Given the description of an element on the screen output the (x, y) to click on. 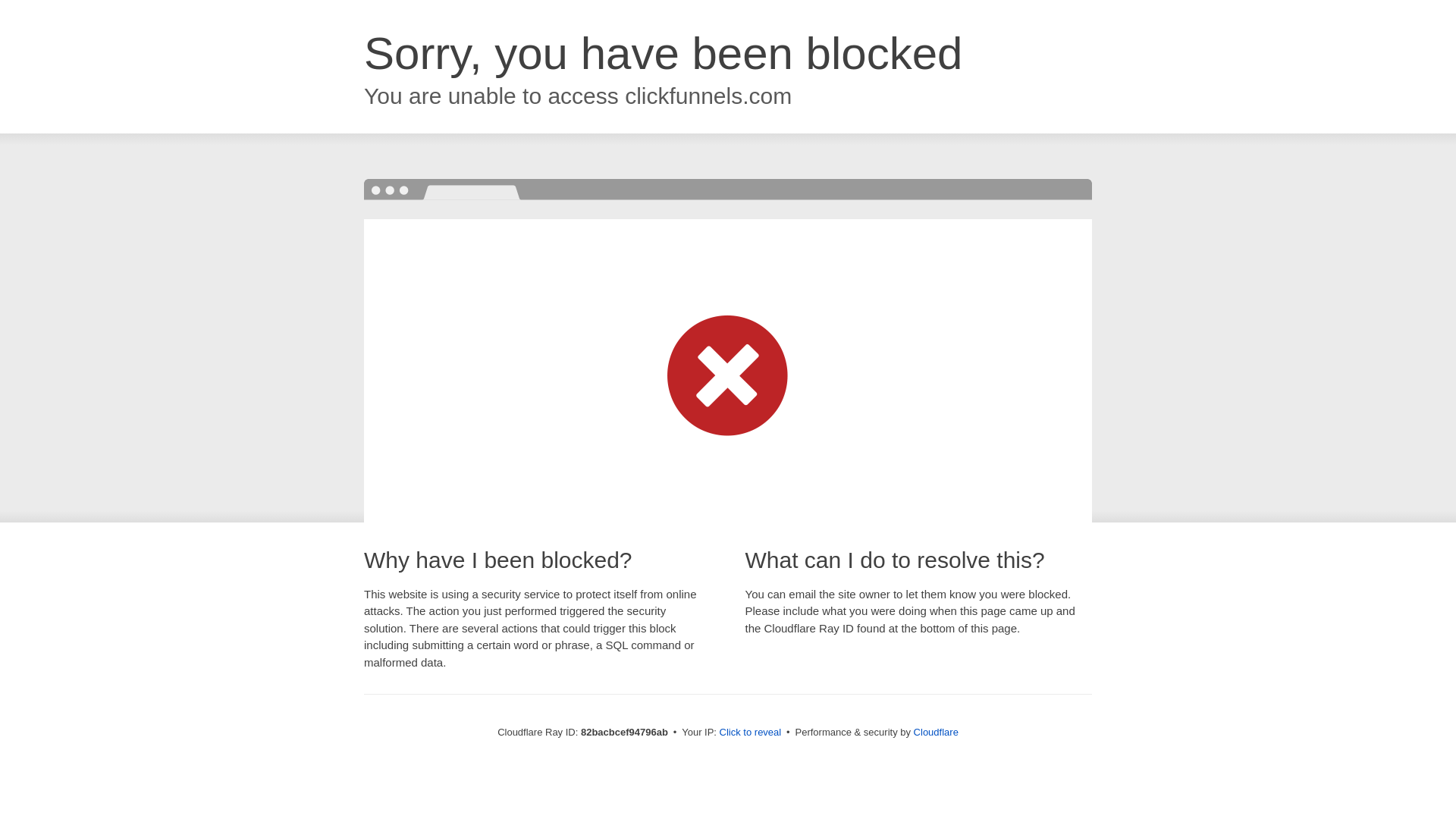
Click to reveal Element type: text (750, 732)
Cloudflare Element type: text (935, 731)
